Given the description of an element on the screen output the (x, y) to click on. 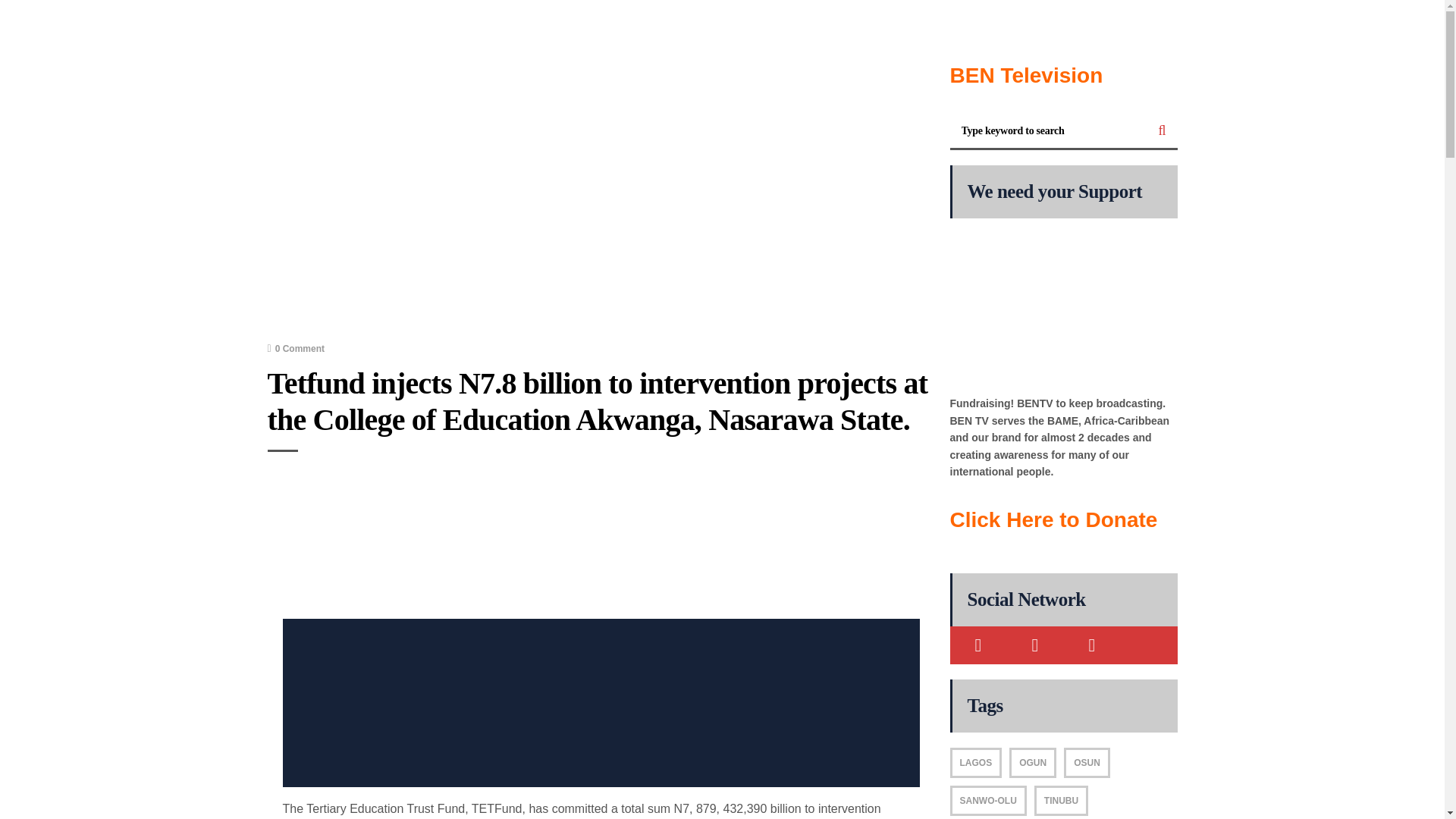
Type keyword to search (1048, 131)
Type keyword to search (1048, 131)
